Given the description of an element on the screen output the (x, y) to click on. 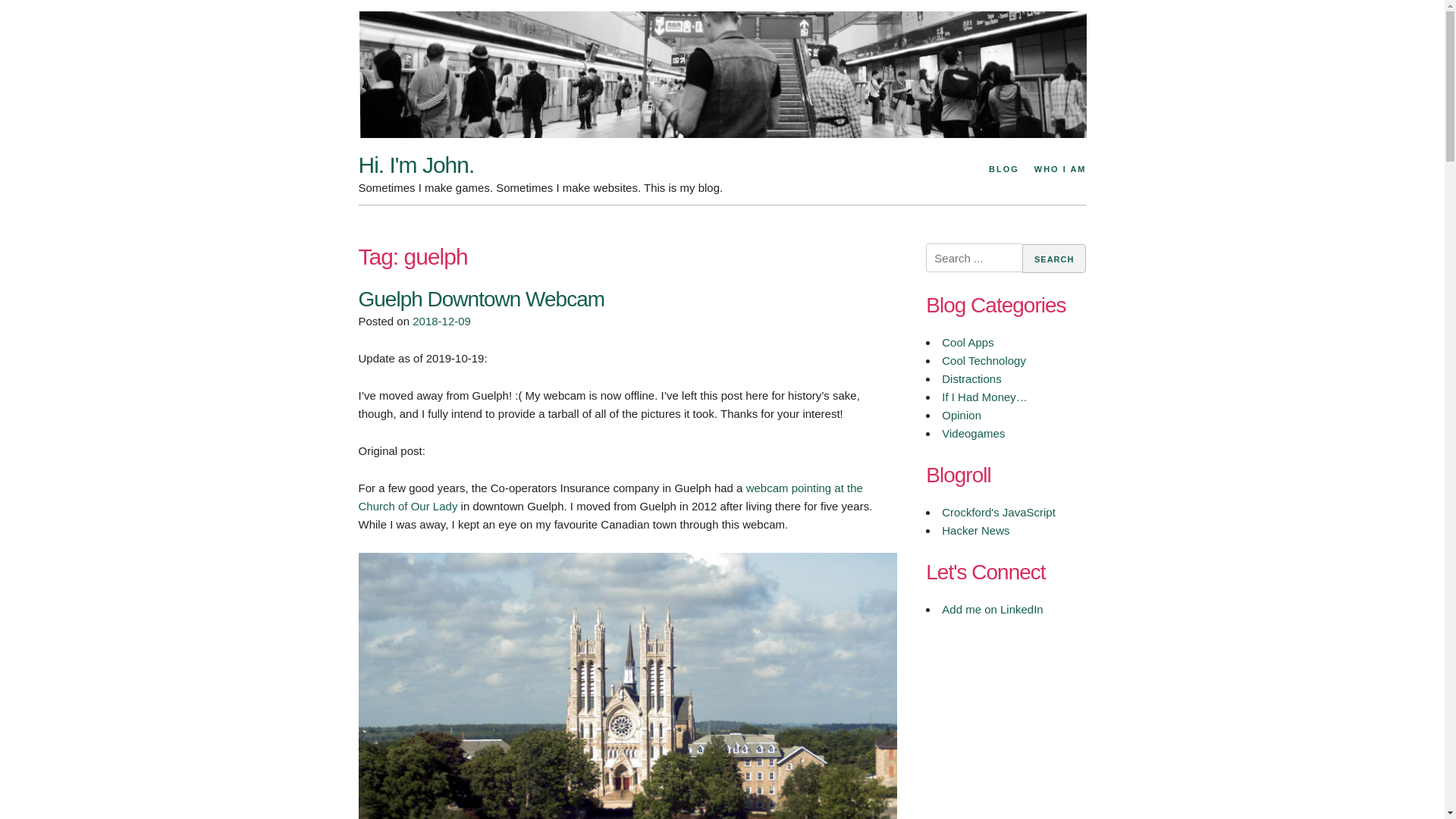
WHO I AM (1058, 169)
Blog (1004, 169)
Search (1054, 258)
Guelph Downtown Webcam (481, 299)
Search (1054, 258)
2018-12-09 (441, 320)
webcam pointing at the Church of Our Lady (609, 496)
Who I Am (1058, 169)
BLOG (1004, 169)
Hi. I'm John. (416, 164)
